Given the description of an element on the screen output the (x, y) to click on. 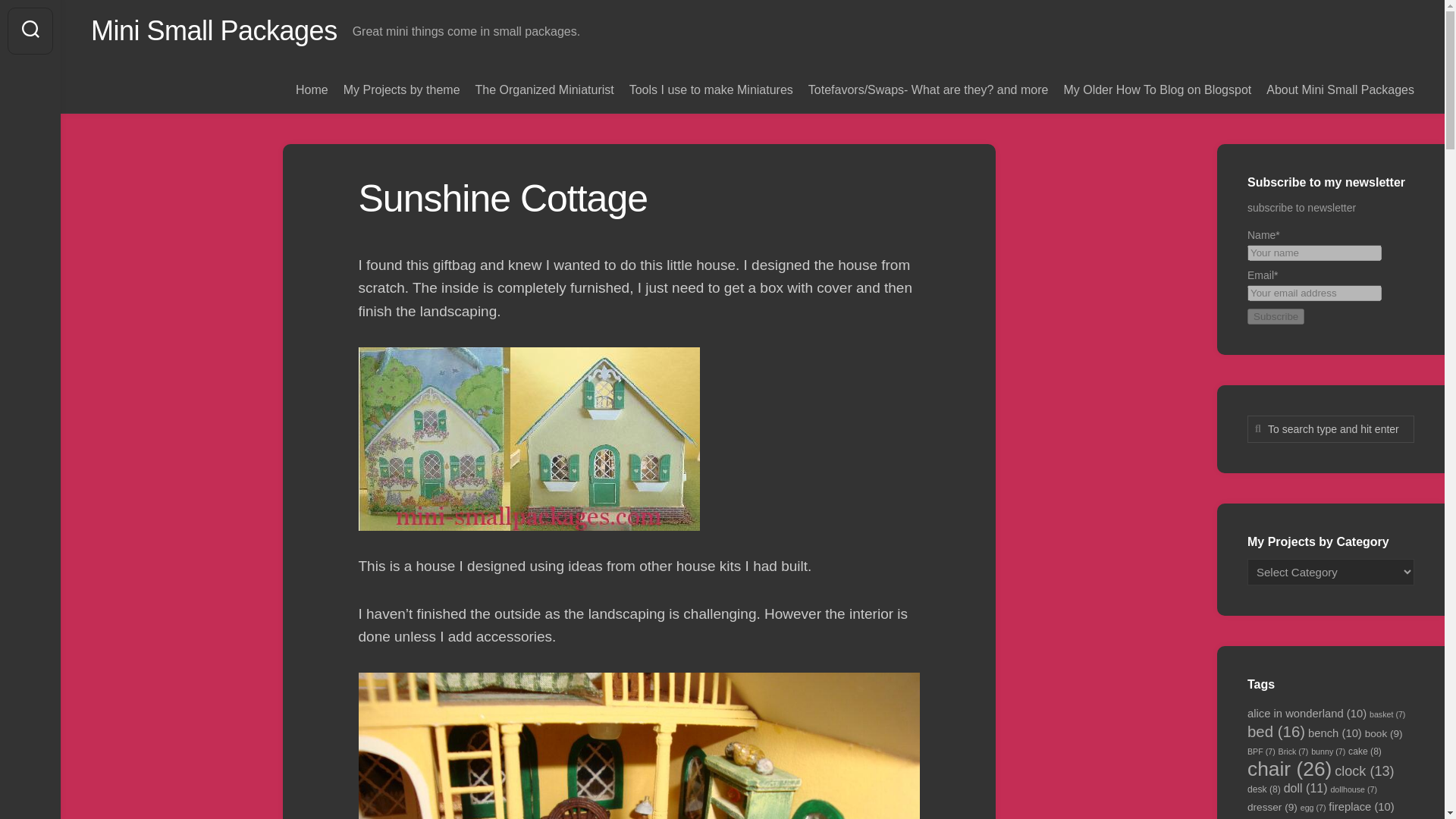
Subscribe (1275, 316)
My Projects by theme (401, 89)
My Older How To Blog on Blogspot (1156, 89)
Tools I use to make Miniatures (710, 89)
To search type and hit enter (1330, 429)
Home (312, 89)
About Mini Small Packages (1339, 89)
Subscribe (1275, 316)
To search type and hit enter (1330, 429)
The Organized Miniaturist (545, 89)
Mini Small Packages (213, 31)
